Given the description of an element on the screen output the (x, y) to click on. 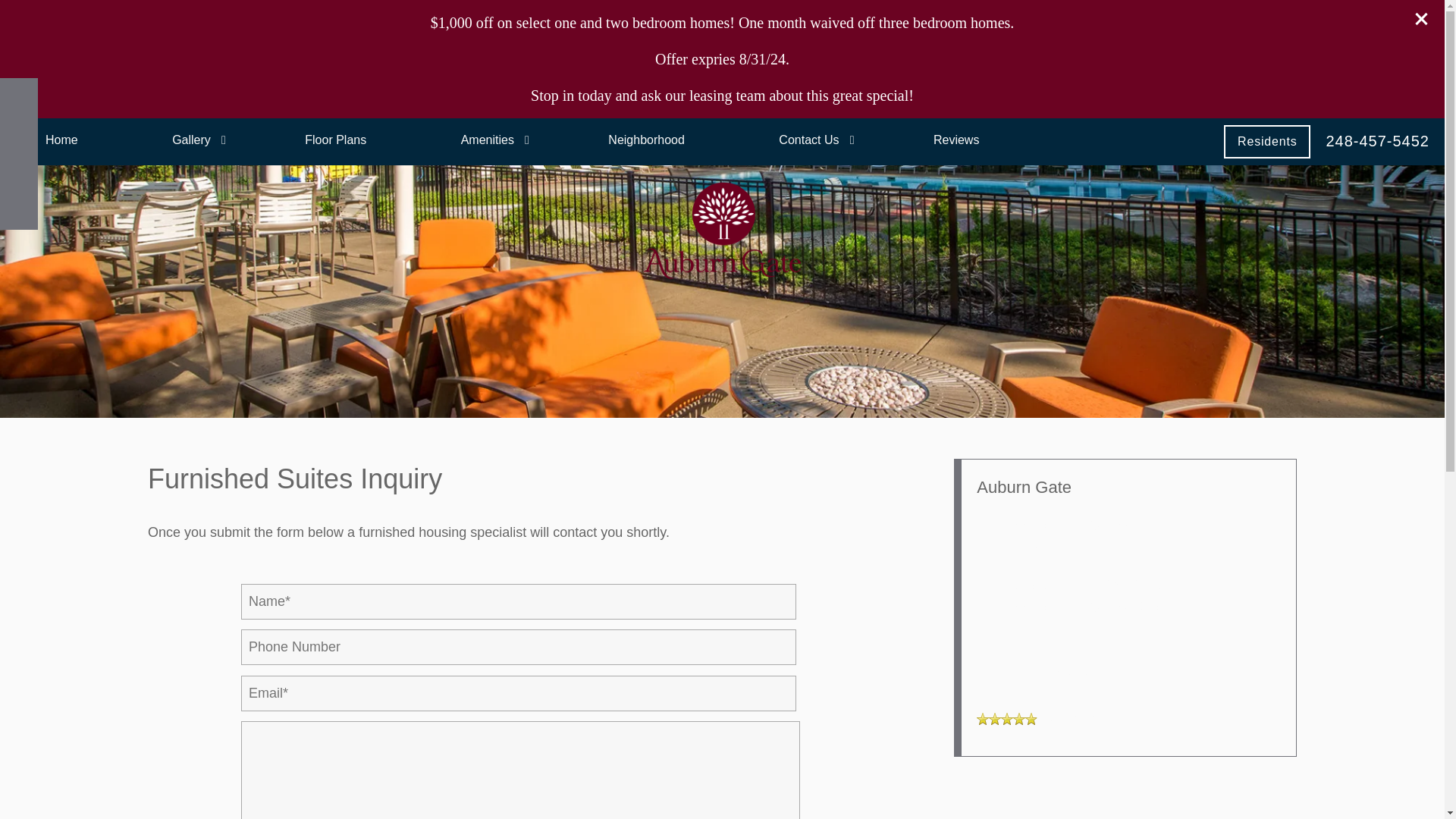
Home (61, 140)
Contact Us (807, 140)
Amenities (487, 140)
Scroll Up (18, 172)
Property Phone Number (1376, 140)
Gallery (191, 140)
Phone Number (18, 96)
Property Phone Number (1038, 670)
80 characters max, letters, spaces, and hyphens only please (518, 601)
